Given the description of an element on the screen output the (x, y) to click on. 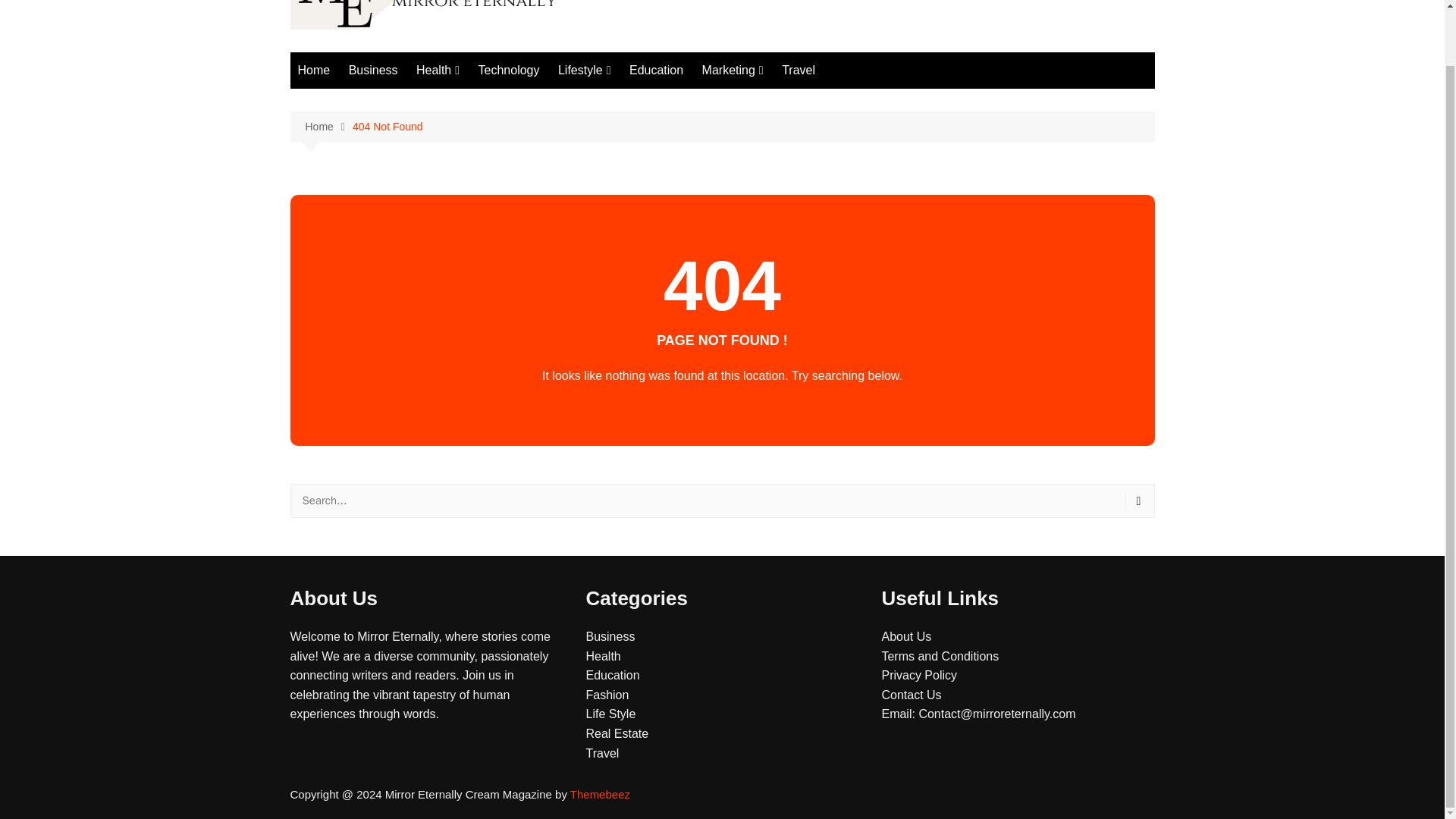
Contact Us (910, 694)
Home (313, 70)
Lifestyle (584, 70)
Health (602, 656)
Terms and Conditions (939, 656)
Travel (798, 70)
Business (609, 635)
Themebeez (600, 793)
Technology (508, 70)
Home (328, 126)
About Us (905, 635)
Real Estate (616, 733)
Health (438, 70)
Education (612, 675)
Fashion (606, 694)
